Given the description of an element on the screen output the (x, y) to click on. 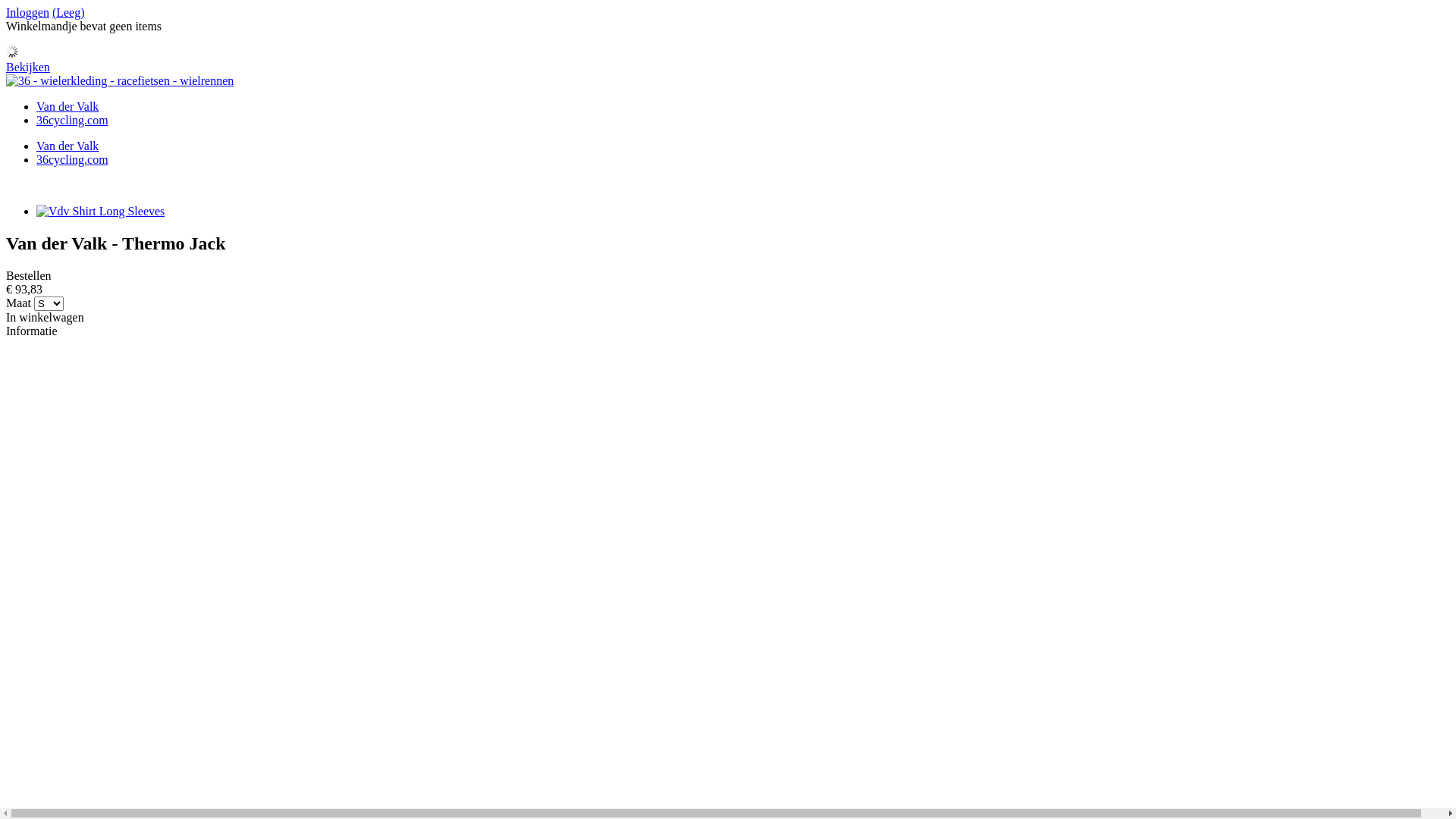
(Leeg) Element type: text (68, 12)
36cycling.com Element type: text (72, 159)
Bekijken Element type: text (28, 66)
In winkelwagen Element type: text (45, 316)
Van der Valk Element type: text (67, 145)
Vdv Shirt Long Sleeves Element type: hover (100, 210)
36cycling.com Element type: text (72, 119)
Inloggen Element type: text (27, 12)
Van der Valk Element type: text (67, 106)
